Given the description of an element on the screen output the (x, y) to click on. 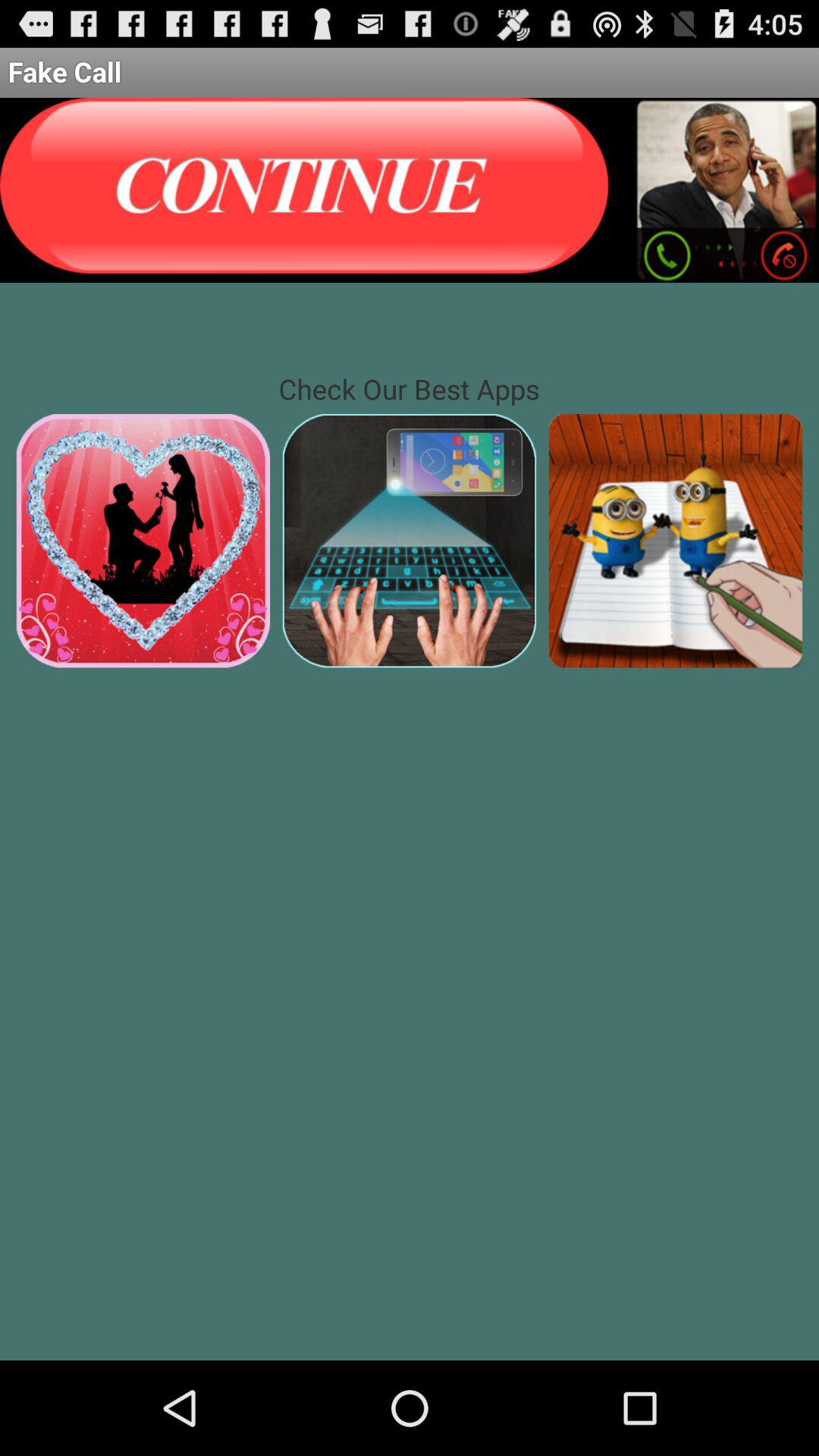
select minion option (675, 540)
